Given the description of an element on the screen output the (x, y) to click on. 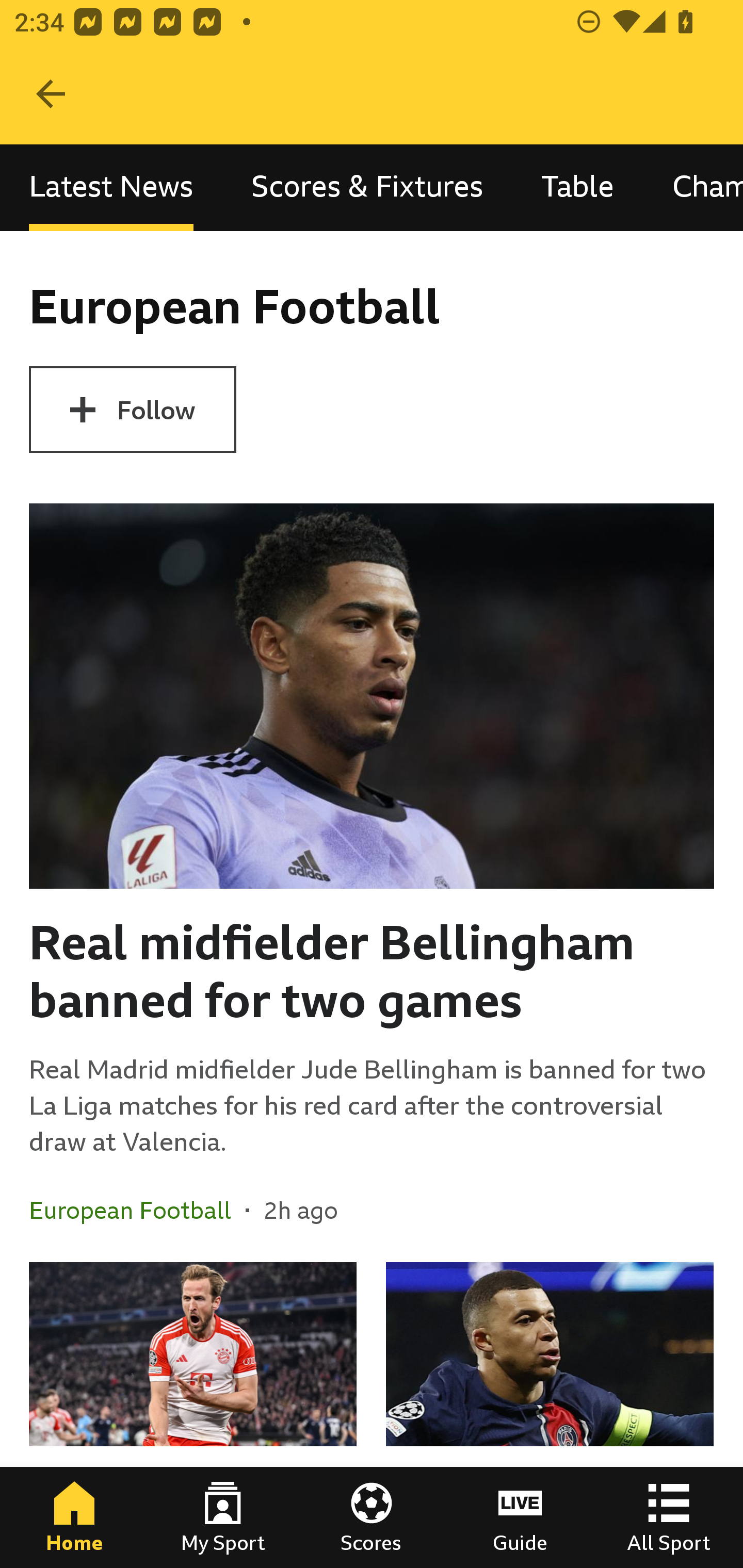
Navigate up (50, 93)
Latest News, selected Latest News (111, 187)
Scores & Fixtures (367, 187)
Table (577, 187)
Champions League (693, 187)
Follow European Football Follow (132, 409)
Kane scores two as stylish Bayern beat Lazio (192, 1415)
Mbappe has 'no problems' with manager Enrique (549, 1415)
My Sport (222, 1517)
Scores (371, 1517)
Guide (519, 1517)
All Sport (668, 1517)
